Given the description of an element on the screen output the (x, y) to click on. 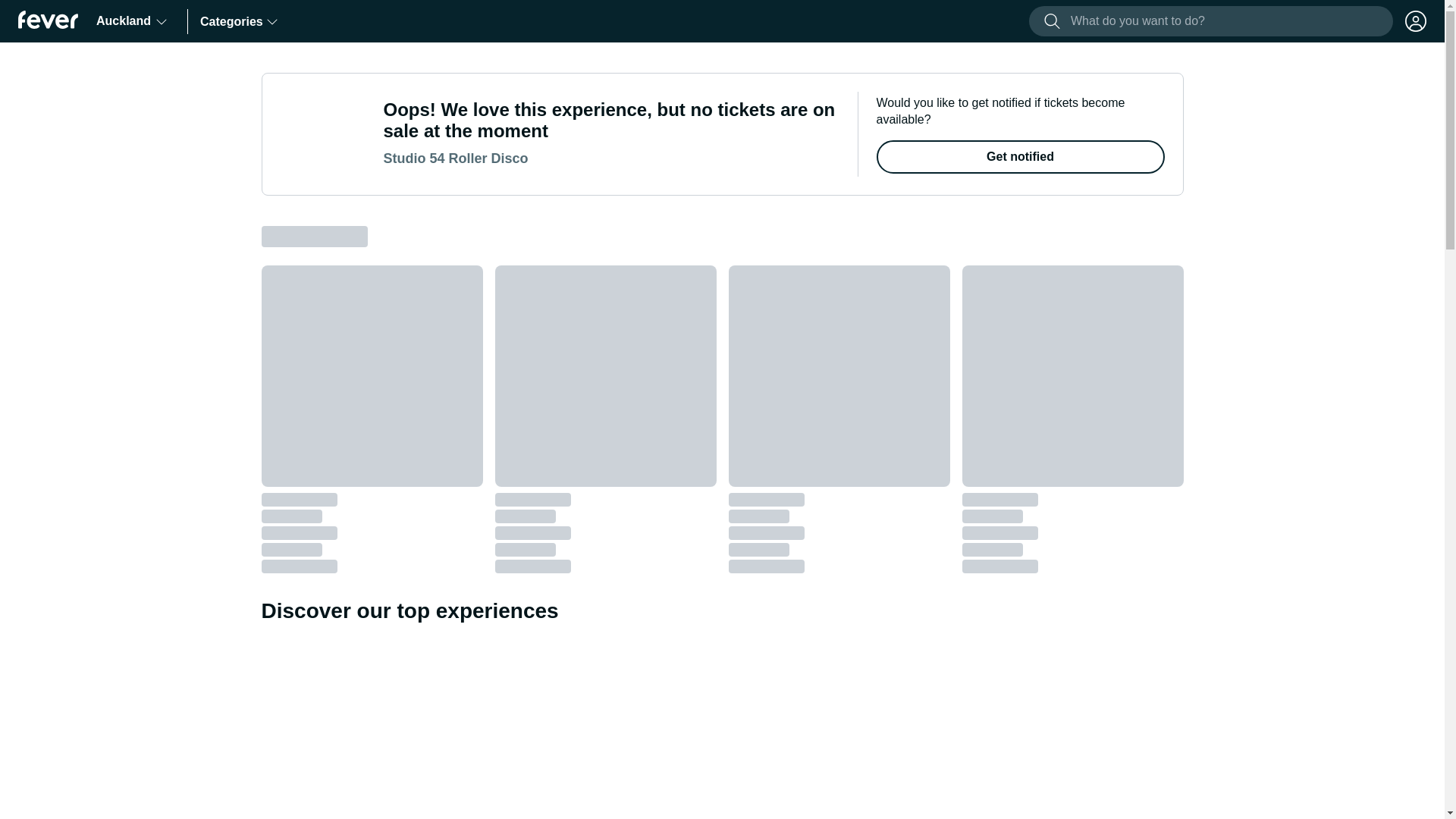
Get notified (1020, 156)
Auckland (132, 21)
